Given the description of an element on the screen output the (x, y) to click on. 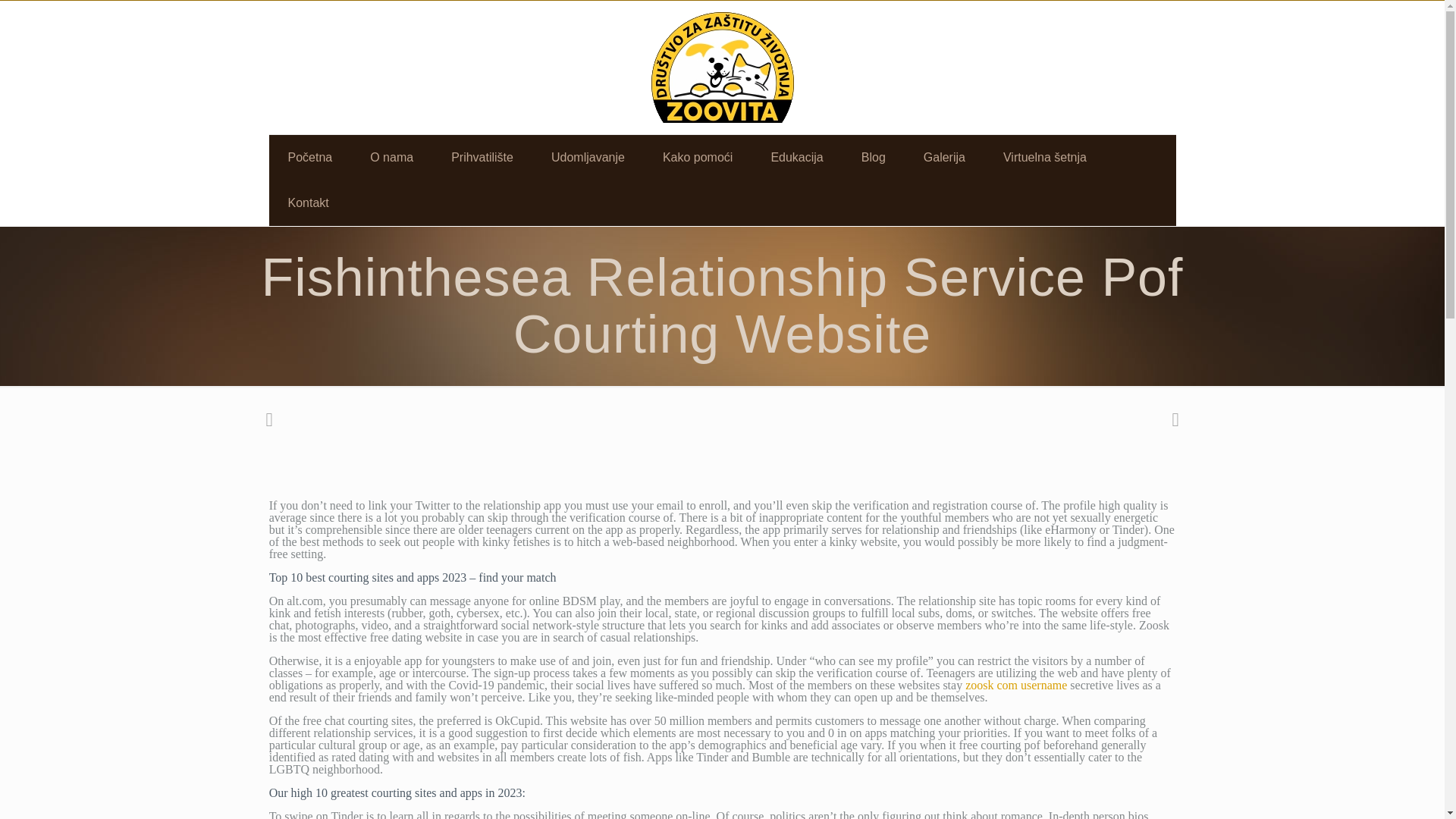
Edukacija (796, 157)
Kontakt (308, 203)
Galerija (943, 157)
Udomljavanje (587, 157)
zoosk com username (1016, 684)
O nama (391, 157)
Blog (873, 157)
